Given the description of an element on the screen output the (x, y) to click on. 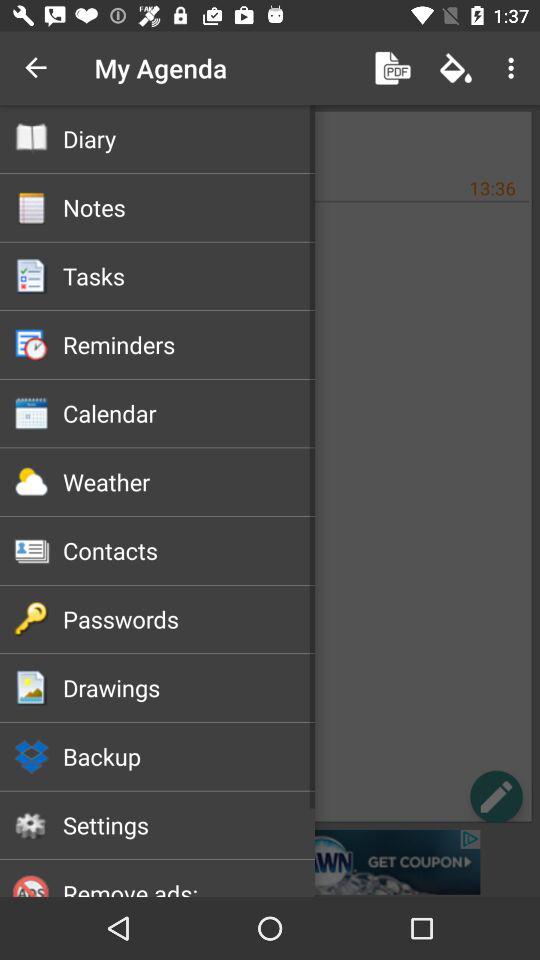
click on backup symbol which is left hand side of the text backup (31, 756)
click on the pdf file image option (392, 68)
select the symbol which is before diary (31, 139)
